Given the description of an element on the screen output the (x, y) to click on. 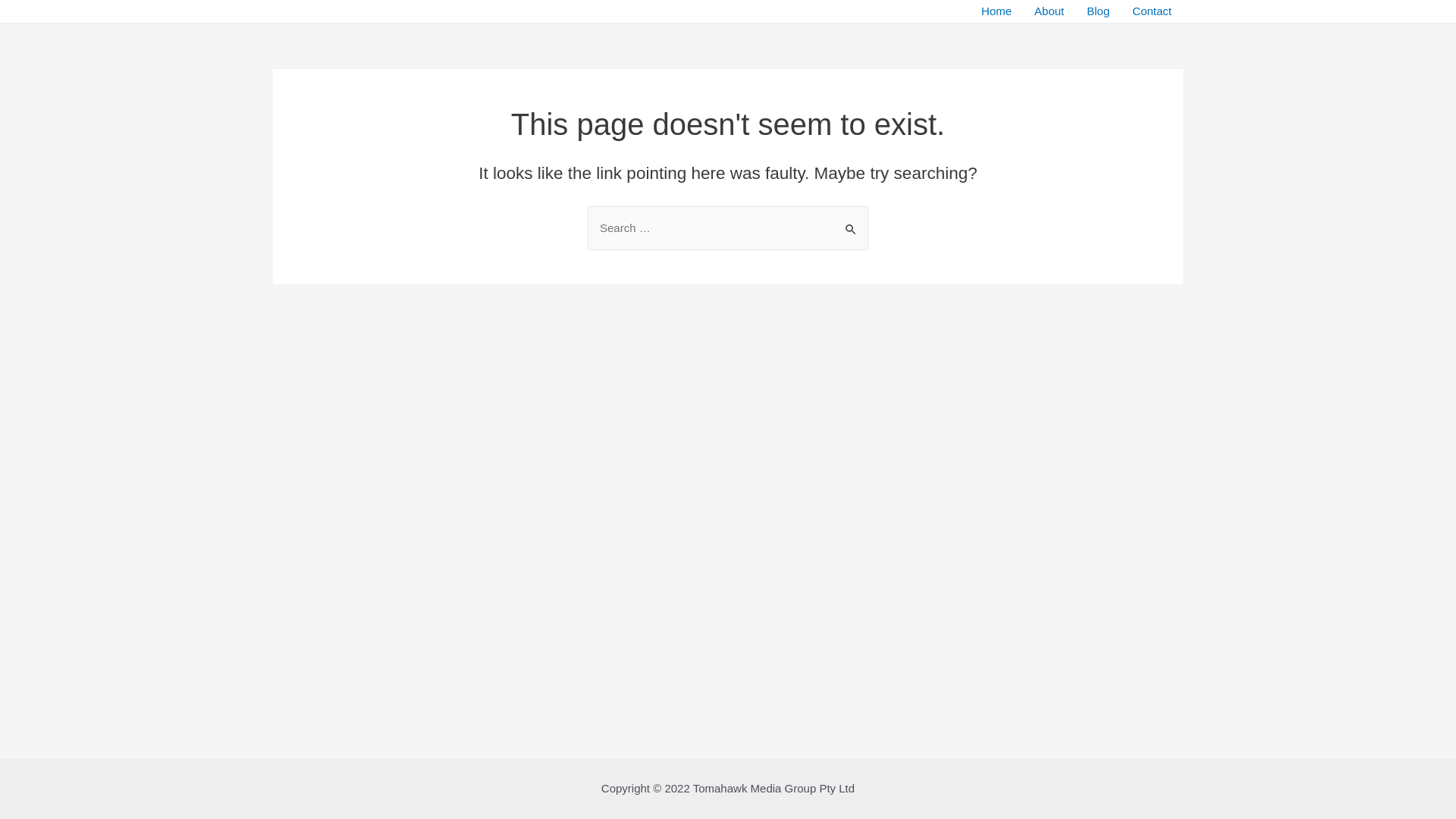
Blog Element type: text (1097, 11)
About Element type: text (1048, 11)
Contact Element type: text (1151, 11)
Search Element type: text (851, 221)
Home Element type: text (995, 11)
